Given the description of an element on the screen output the (x, y) to click on. 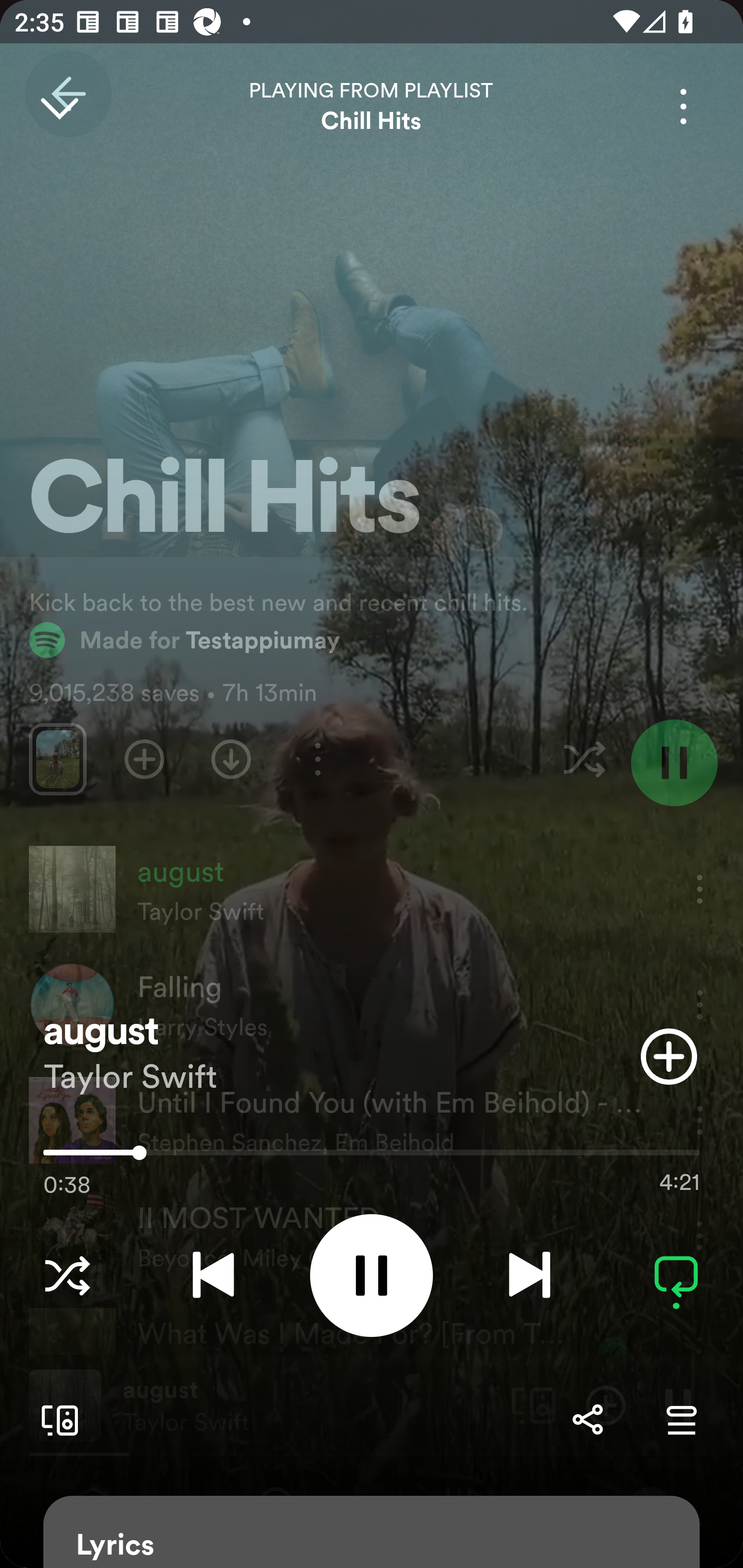
Close (59, 106)
More options for song august (683, 106)
PLAYING FROM PLAYLIST Chill Hits (371, 106)
Add item (669, 1056)
0:37 4:21 37604.0 Use volume keys to adjust (371, 1157)
Pause (371, 1275)
Previous (212, 1275)
Next (529, 1275)
Choose a Listening Mode (66, 1275)
Repeat (676, 1275)
Share (587, 1419)
Go to Queue (681, 1419)
Connect to a device. Opens the devices menu (55, 1419)
Lyrics (371, 1531)
